Given the description of an element on the screen output the (x, y) to click on. 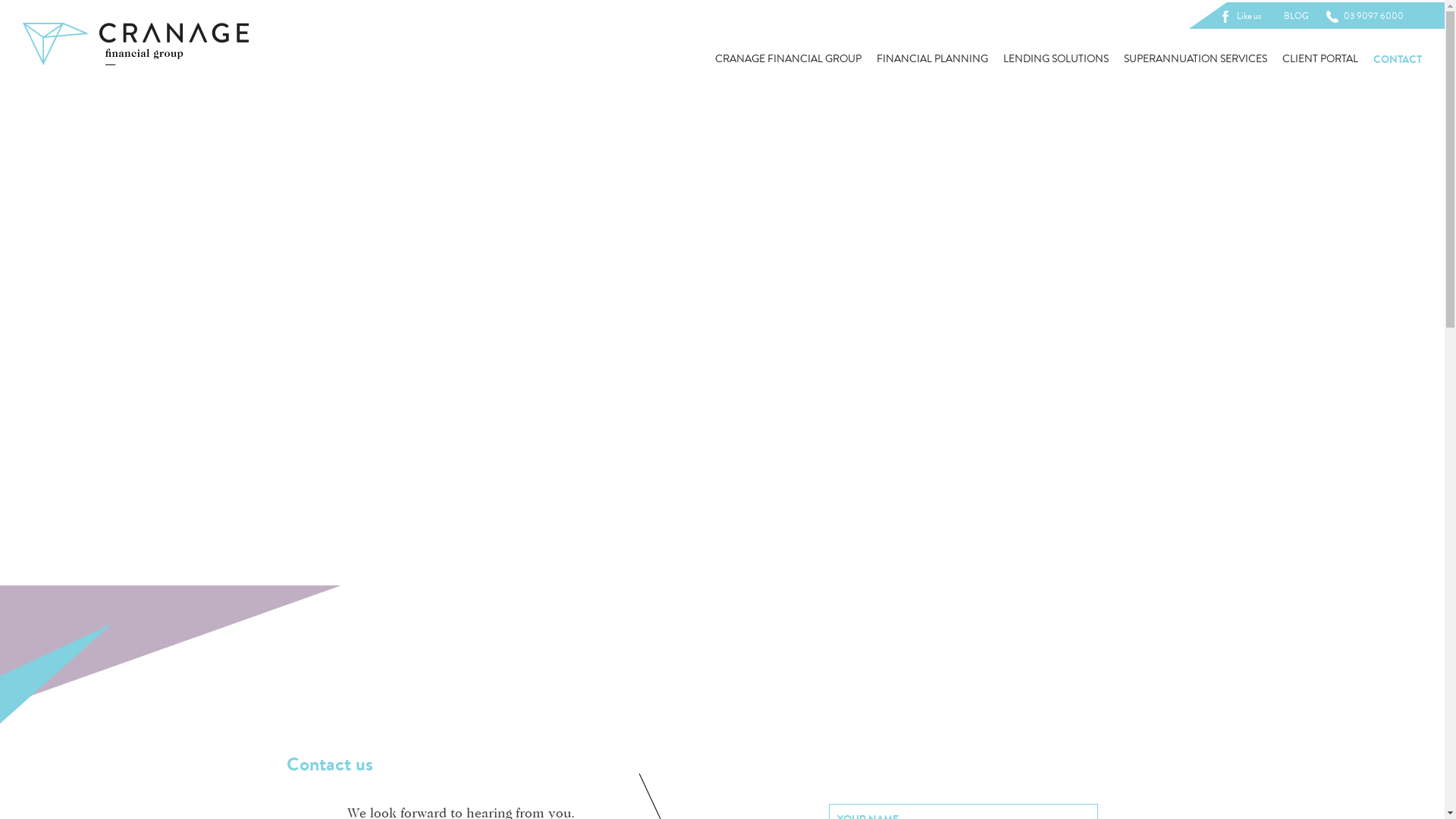
Like us Element type: text (1242, 15)
CRANAGE FINANCIAL GROUP Element type: text (788, 59)
FINANCIAL PLANNING Element type: text (932, 59)
CLIENT PORTAL Element type: text (1320, 59)
CONTACT Element type: text (1397, 59)
BLOG Element type: text (1296, 15)
SUPERANNUATION SERVICES Element type: text (1195, 59)
LENDING SOLUTIONS Element type: text (1055, 59)
03 9097 6000 Element type: text (1367, 15)
